Given the description of an element on the screen output the (x, y) to click on. 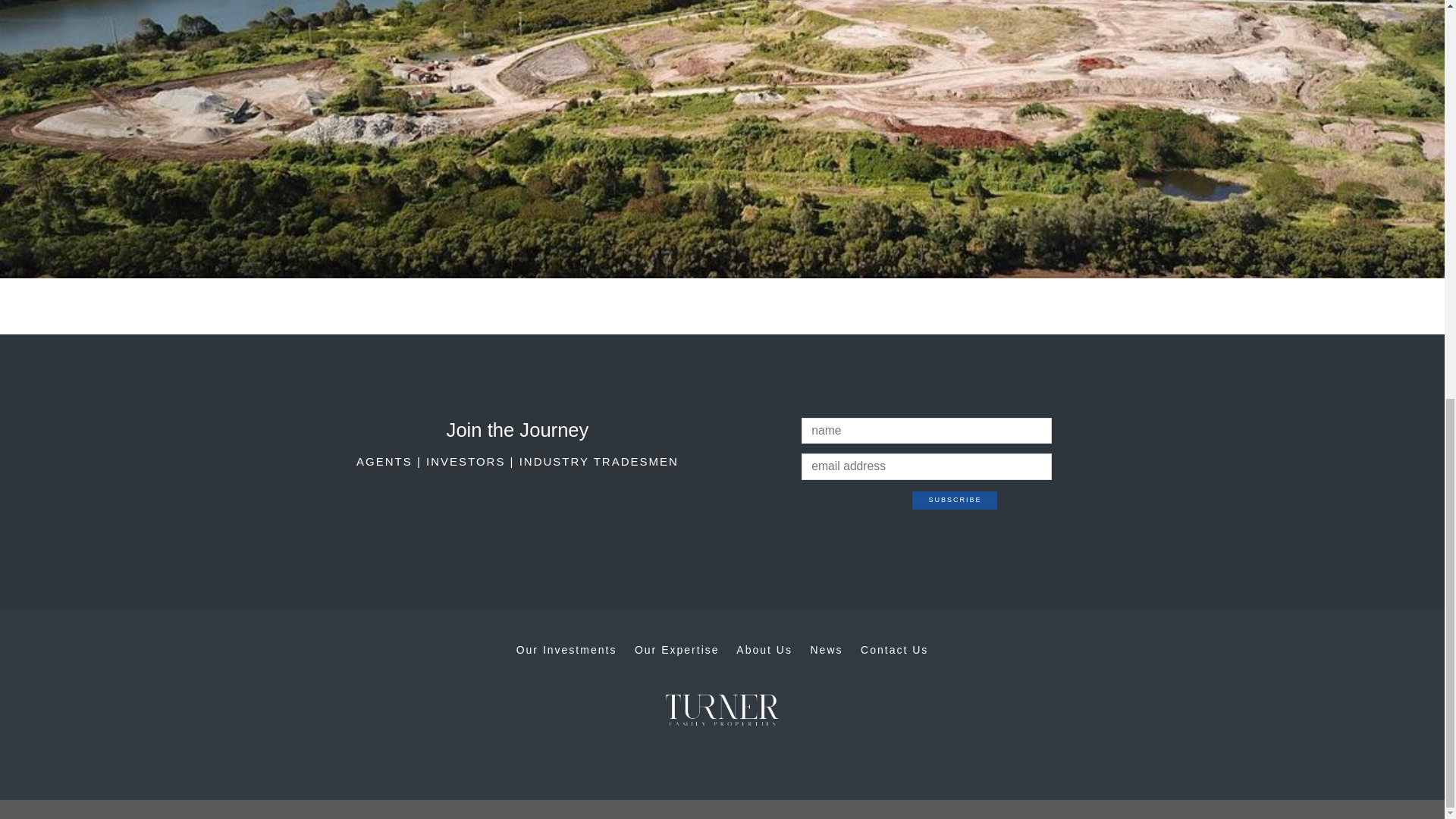
Our Expertise (676, 649)
Our Investments (566, 649)
About Us (764, 649)
subscribe (954, 500)
Contact Us (894, 649)
News (826, 649)
subscribe (954, 500)
